Given the description of an element on the screen output the (x, y) to click on. 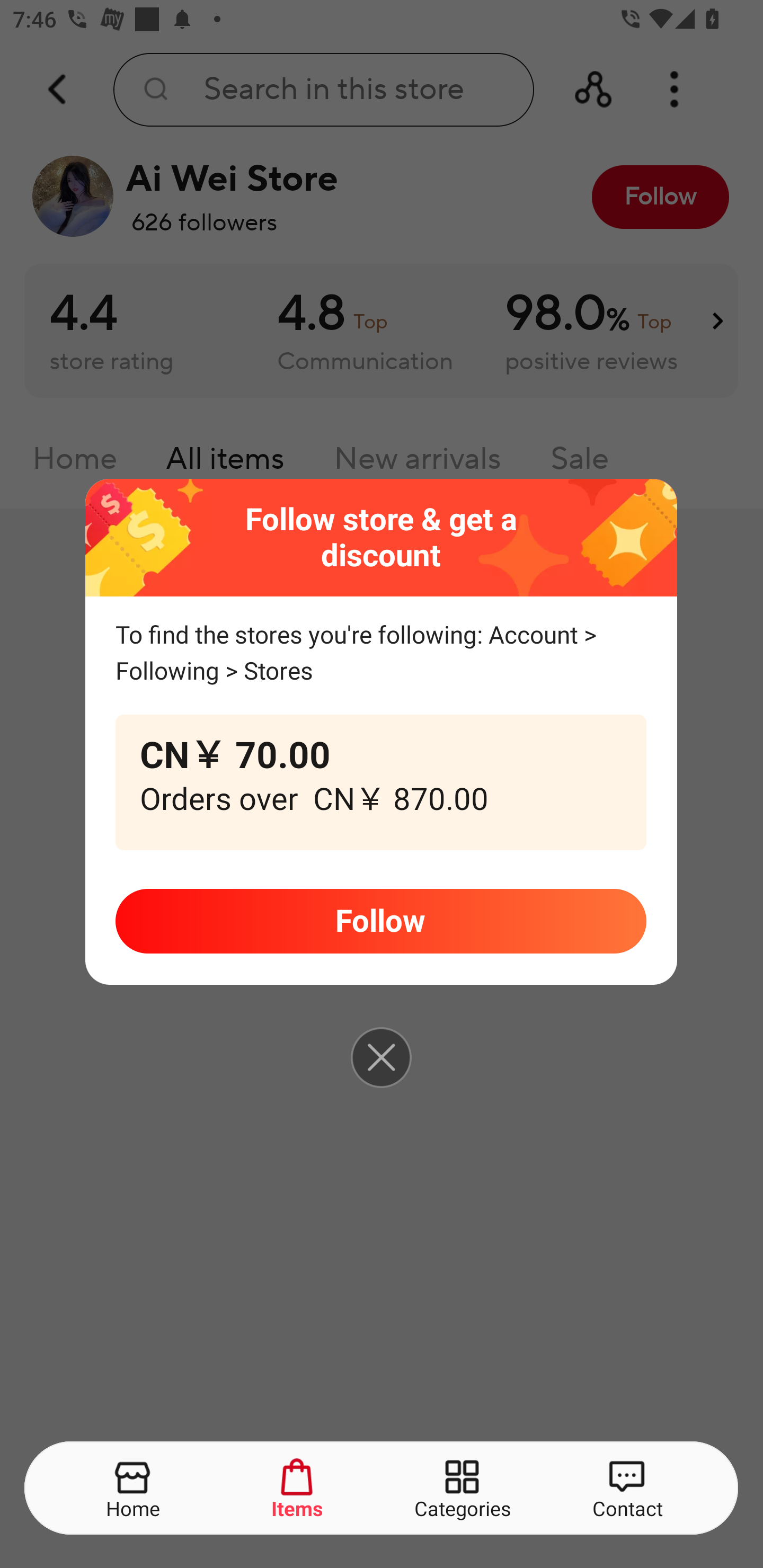
Follow (380, 921)
Home (133, 1488)
Items (297, 1488)
Categories (462, 1488)
Contact (627, 1488)
